Given the description of an element on the screen output the (x, y) to click on. 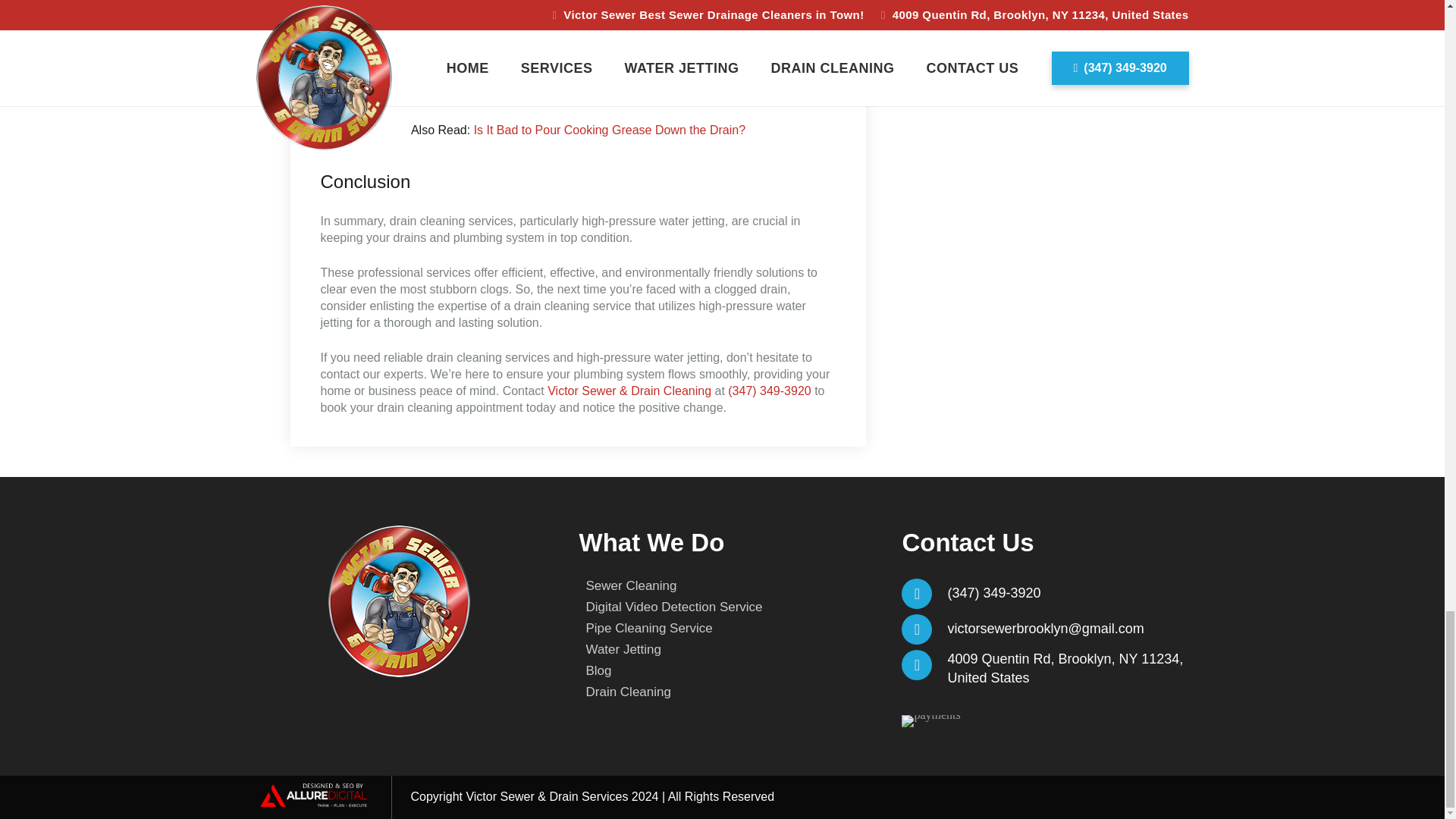
Sewer Cleaning (631, 585)
Blog (598, 670)
Digital Video Detection Service (673, 606)
Drain Cleaning (627, 691)
Water Jetting (623, 649)
Is It Bad to Pour Cooking Grease Down the Drain? (609, 129)
Pipe Cleaning Service (648, 627)
